Given the description of an element on the screen output the (x, y) to click on. 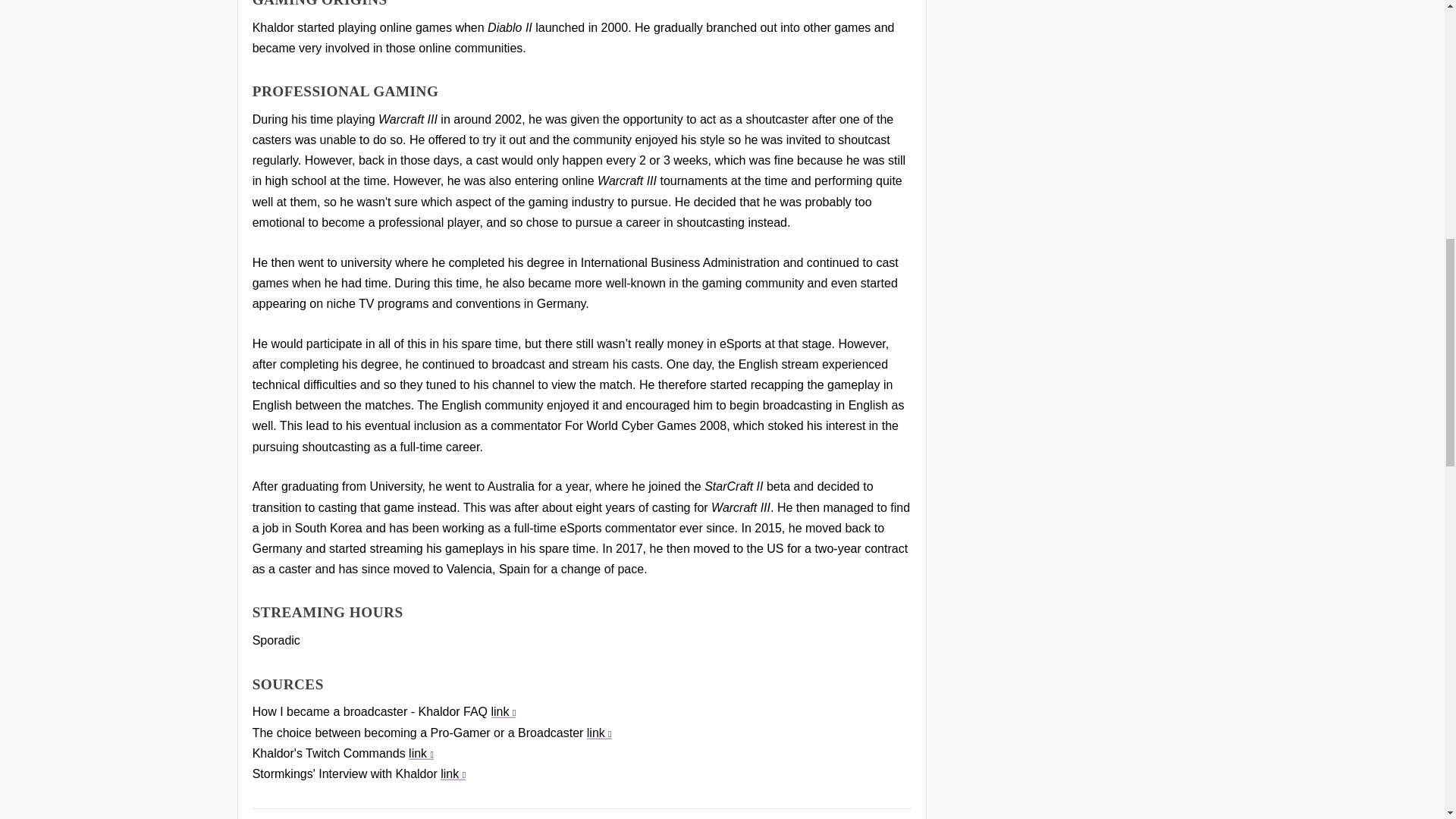
link (598, 732)
link (504, 711)
link (453, 773)
link (421, 753)
